Given the description of an element on the screen output the (x, y) to click on. 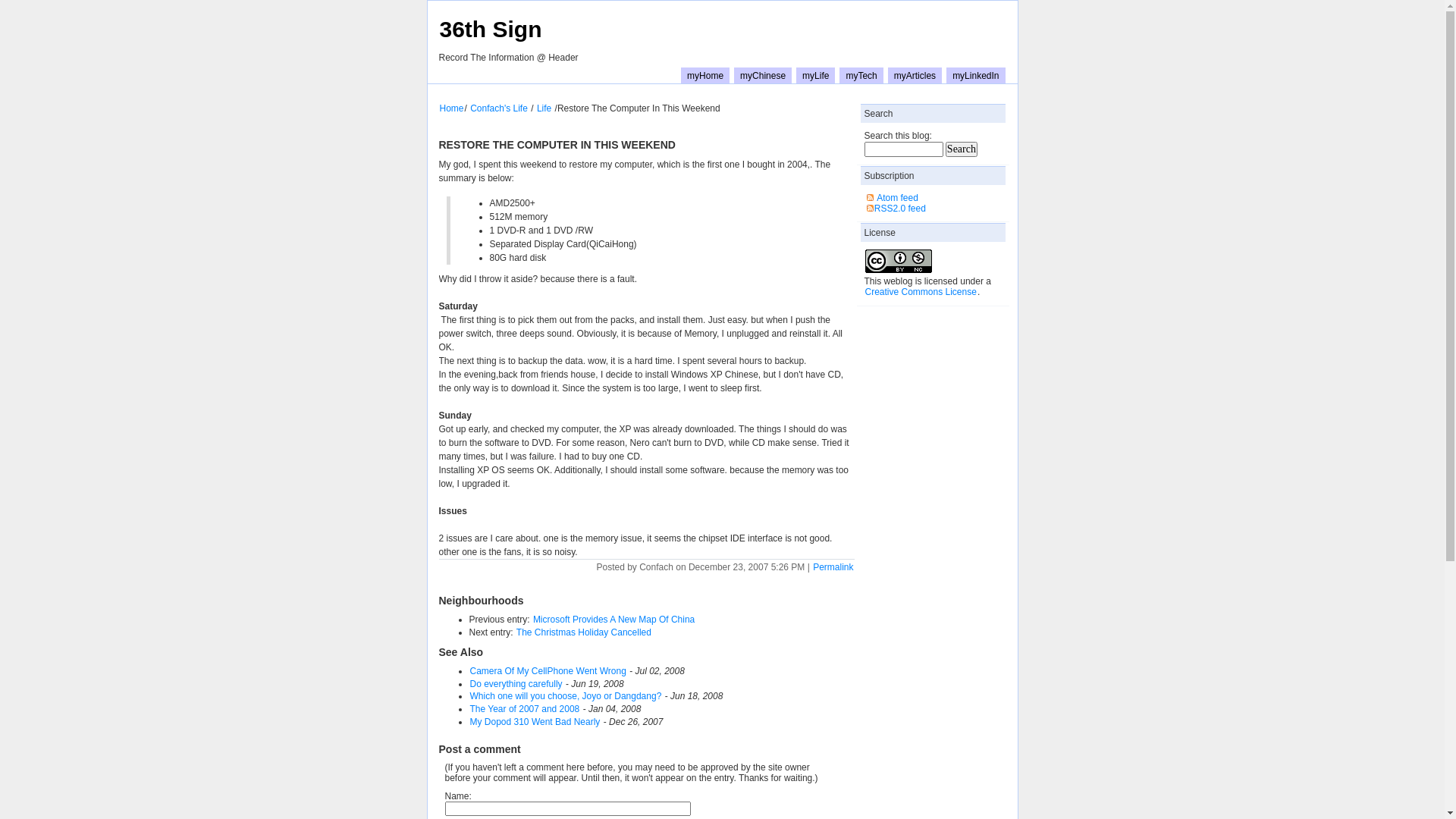
myChinese Element type: text (762, 75)
Do everything carefully Element type: text (515, 683)
Permalink Element type: text (832, 567)
Atom feed Element type: text (897, 197)
myLife Element type: text (815, 75)
The Christmas Holiday Cancelled Element type: text (583, 632)
Life Element type: text (544, 108)
Camera Of My CellPhone Went Wrong Element type: text (547, 671)
myTech Element type: text (860, 75)
Microsoft Provides A New Map Of China Element type: text (613, 619)
The Year of 2007 and 2008 Element type: text (524, 708)
myLinkedIn Element type: text (975, 75)
36th Sign Element type: text (490, 28)
Confach's Life Element type: text (498, 108)
myArticles Element type: text (914, 75)
My Dopod 310 Went Bad Nearly Element type: text (534, 721)
myHome Element type: text (704, 75)
Which one will you choose, Joyo or Dangdang? Element type: text (565, 696)
Home Element type: text (451, 108)
RSS2.0 feed Element type: text (899, 208)
Creative Commons License Element type: text (920, 291)
Search Element type: text (961, 148)
